Given the description of an element on the screen output the (x, y) to click on. 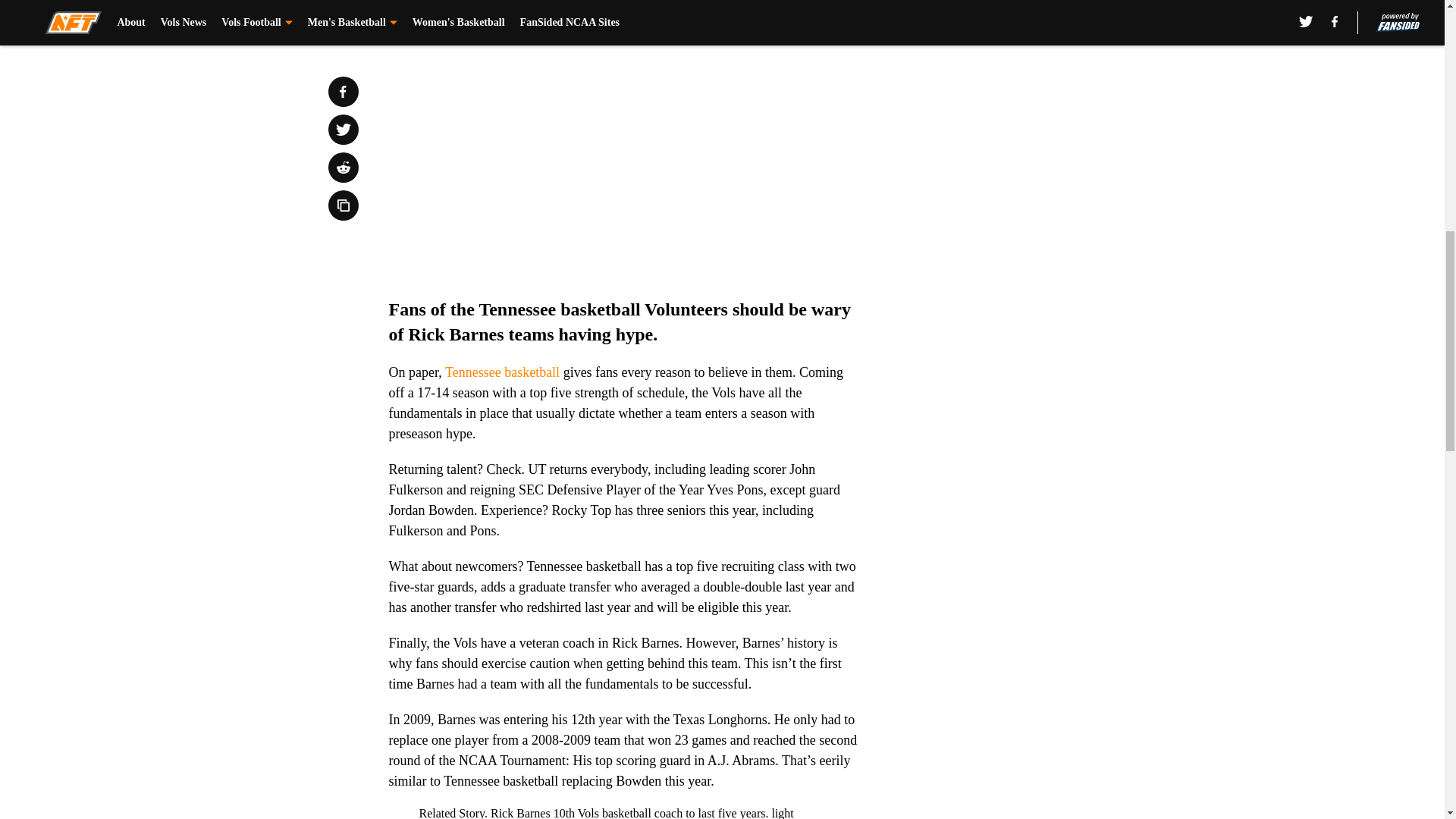
Tennessee basketball (502, 372)
